Given the description of an element on the screen output the (x, y) to click on. 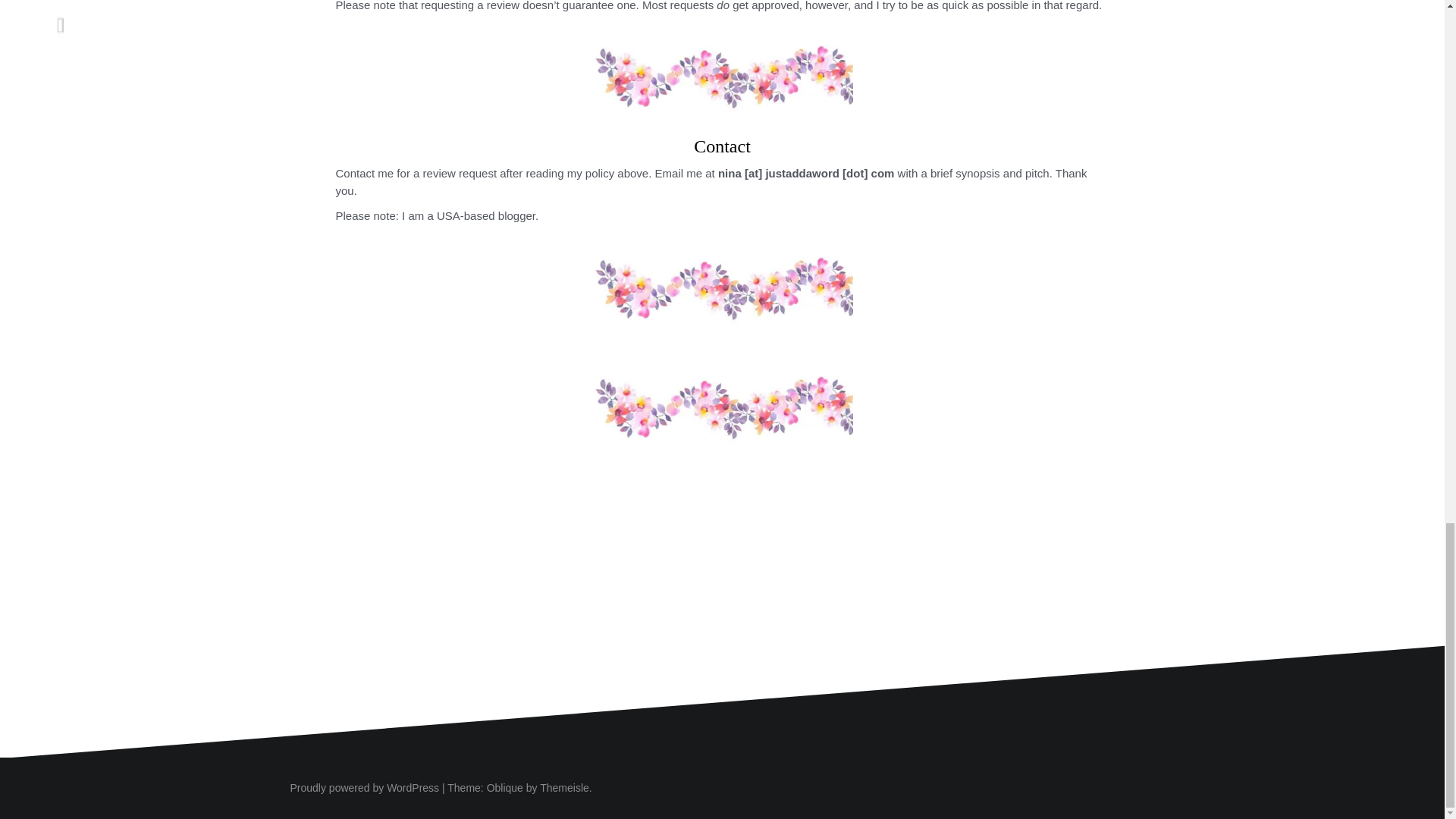
Proudly powered by WordPress (364, 787)
Oblique (504, 787)
